Given the description of an element on the screen output the (x, y) to click on. 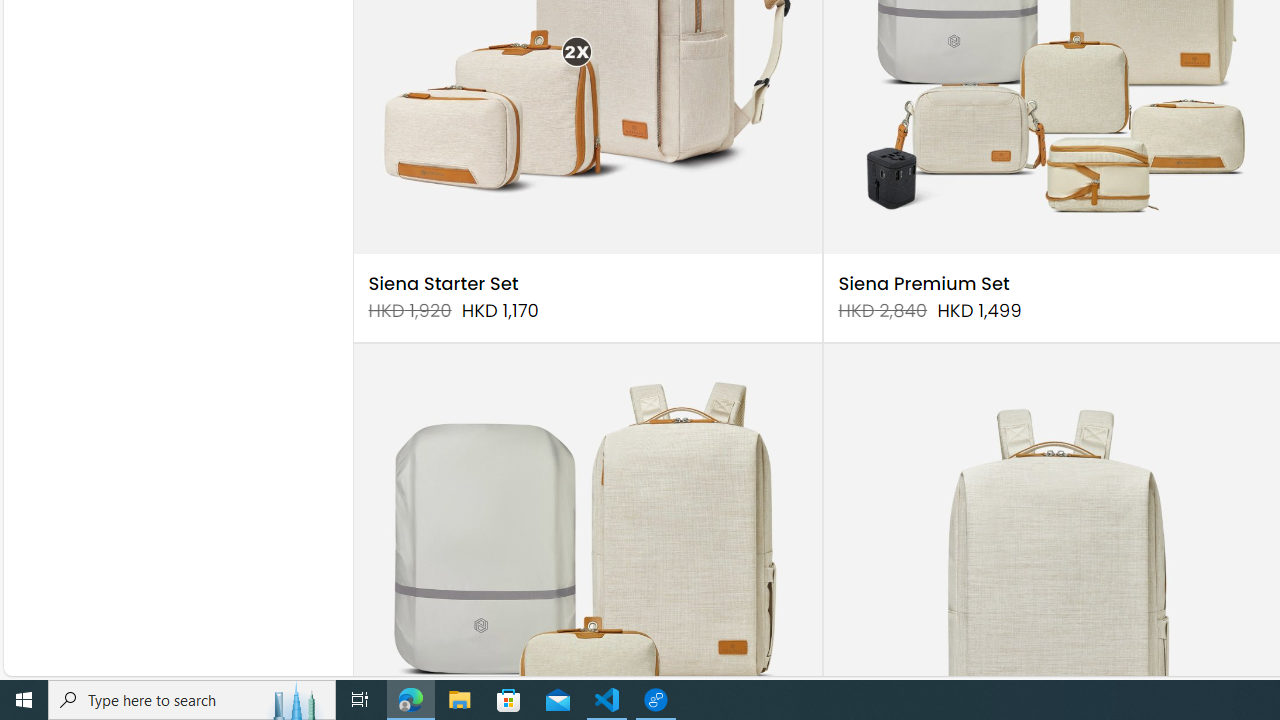
Siena Premium Set (923, 283)
Siena Starter Set (443, 283)
